Given the description of an element on the screen output the (x, y) to click on. 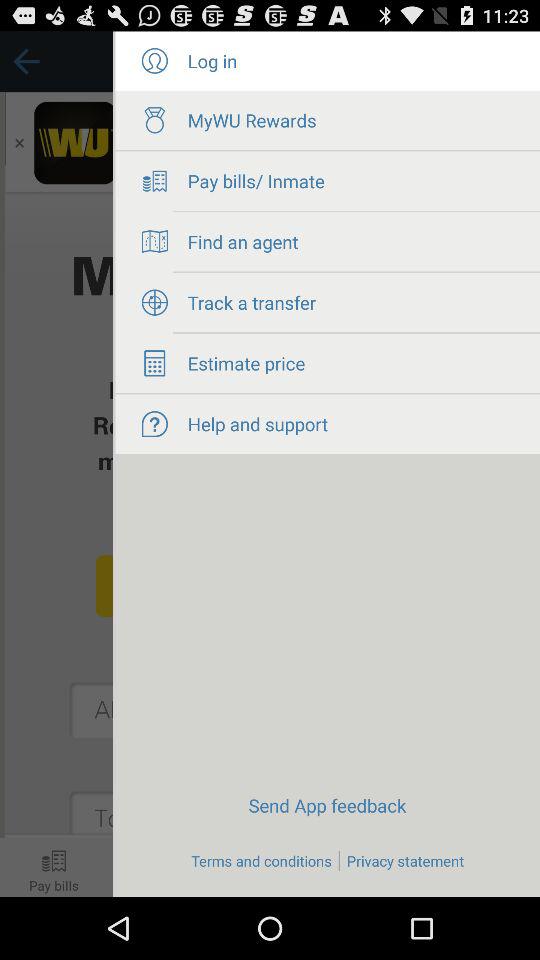
go to log in page (154, 61)
